Given the description of an element on the screen output the (x, y) to click on. 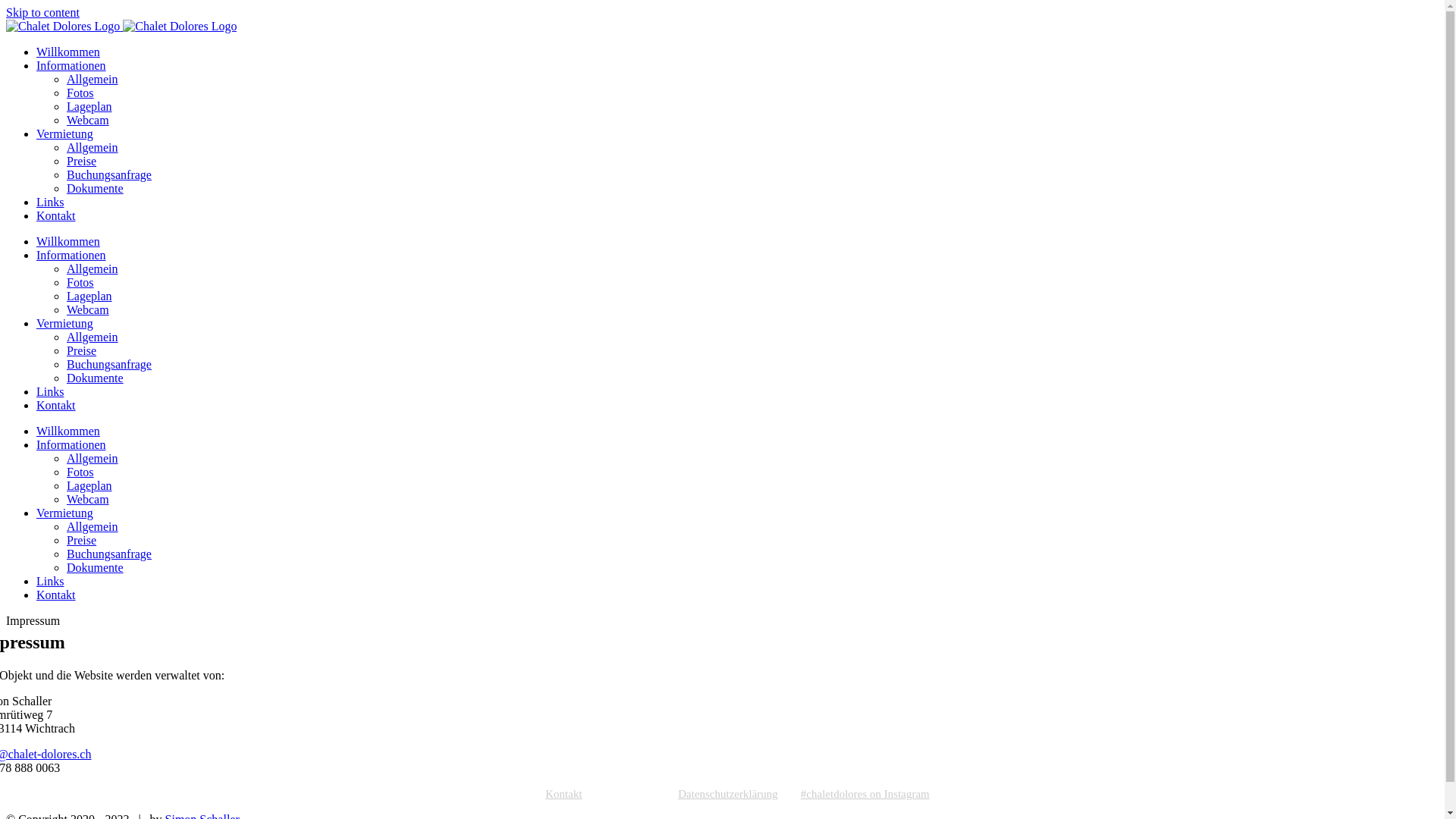
Allgemein Element type: text (92, 78)
Buchungsanfrage Element type: text (108, 174)
Webcam Element type: text (87, 309)
Vermietung Element type: text (64, 512)
Lageplan Element type: text (89, 106)
Dokumente Element type: text (94, 188)
Willkommen Element type: text (68, 51)
Fotos Element type: text (80, 282)
Dokumente Element type: text (94, 567)
Skip to content Element type: text (42, 12)
Preise Element type: text (81, 350)
Links Element type: text (49, 580)
Willkommen Element type: text (68, 241)
Kontakt Element type: text (55, 404)
Kontakt Element type: text (574, 793)
Willkommen Element type: text (68, 430)
Webcam Element type: text (87, 498)
Dokumente Element type: text (94, 377)
Preise Element type: text (81, 539)
Allgemein Element type: text (92, 336)
Allgemein Element type: text (92, 147)
Links Element type: text (49, 391)
Allgemein Element type: text (92, 457)
Buchungsanfrage Element type: text (108, 553)
Allgemein Element type: text (92, 268)
Informationen Element type: text (71, 65)
Informationen Element type: text (71, 254)
Buchungsanfrage Element type: text (108, 363)
Lageplan Element type: text (89, 485)
Webcam Element type: text (87, 119)
Kontakt Element type: text (55, 215)
Fotos Element type: text (80, 92)
Vermietung Element type: text (64, 133)
Vermietung Element type: text (64, 322)
Allgemein Element type: text (92, 526)
Links Element type: text (49, 201)
#chaletdolores on Instagram Element type: text (864, 793)
Preise Element type: text (81, 160)
Lageplan Element type: text (89, 295)
Impressum Element type: text (641, 793)
Fotos Element type: text (80, 471)
Informationen Element type: text (71, 444)
Kontakt Element type: text (55, 594)
